Given the description of an element on the screen output the (x, y) to click on. 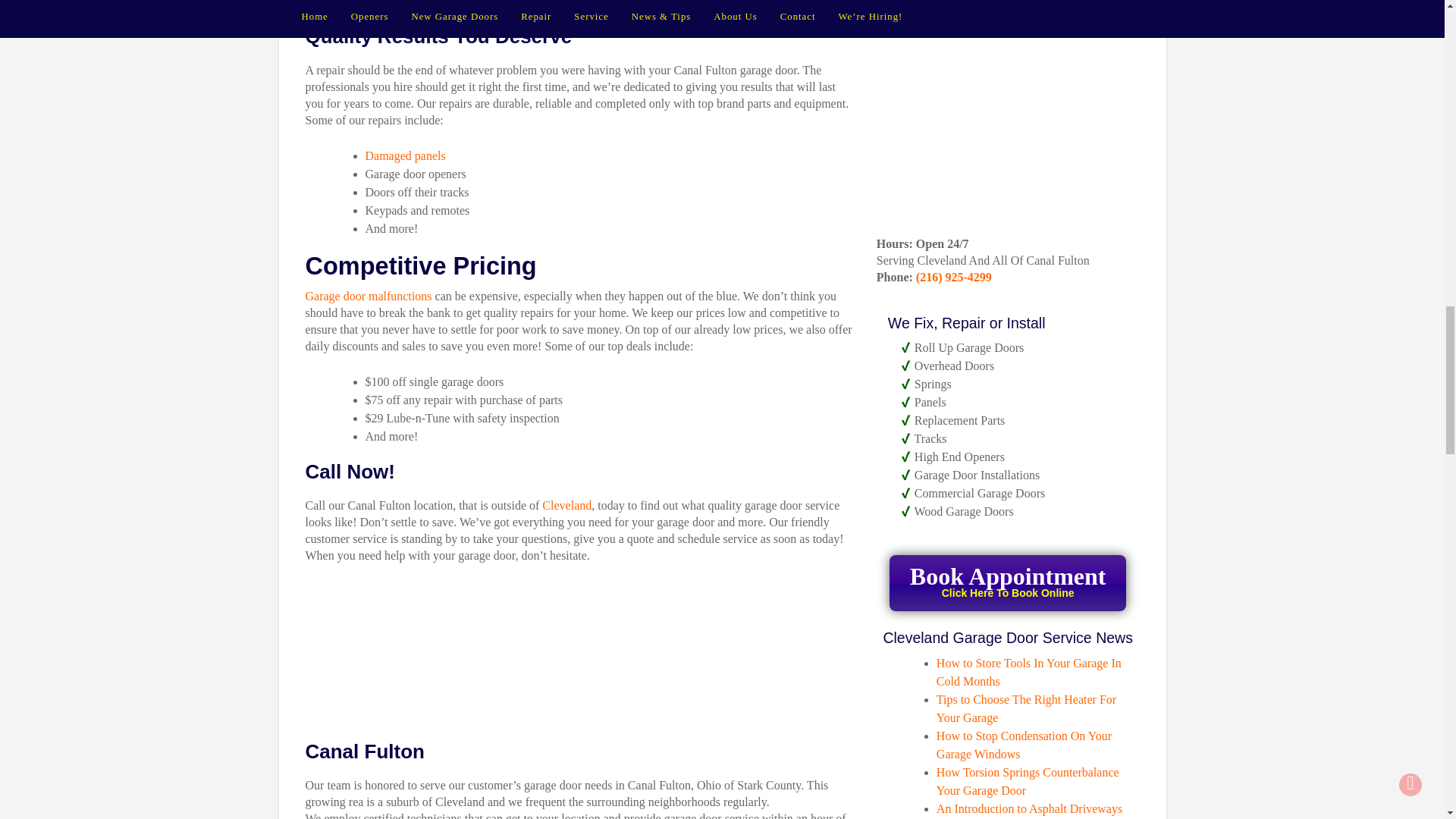
An Introduction to Asphalt Driveways (1029, 808)
How to Store Tools In Your Garage In Cold Months (1028, 671)
Tips to Choose The Right Heater For Your Garage (1026, 707)
How Torsion Springs Counterbalance Your Garage Door (1027, 780)
Cleveland (566, 504)
Garage door malfunctions (367, 295)
Damaged panels (1007, 582)
How to Stop Condensation On Your Garage Windows (405, 155)
